Given the description of an element on the screen output the (x, y) to click on. 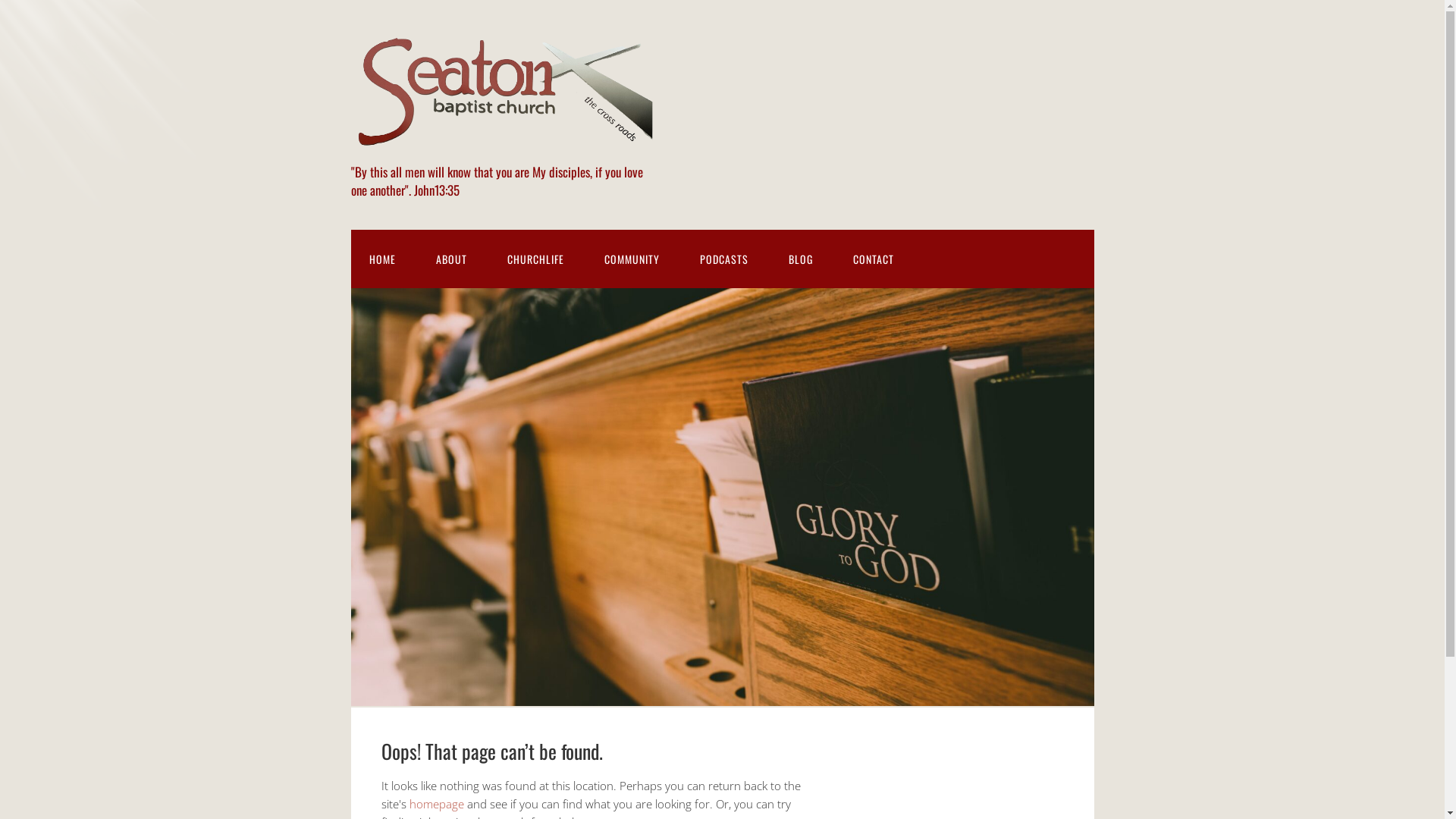
PODCASTS Element type: text (722, 258)
HOME Element type: text (381, 258)
ABOUT Element type: text (450, 258)
CONTACT Element type: text (872, 258)
CHURCHLIFE Element type: text (534, 258)
Seaton Baptist Church Element type: hover (501, 145)
homepage Element type: text (436, 803)
BLOG Element type: text (800, 258)
COMMUNITY Element type: text (631, 258)
